Given the description of an element on the screen output the (x, y) to click on. 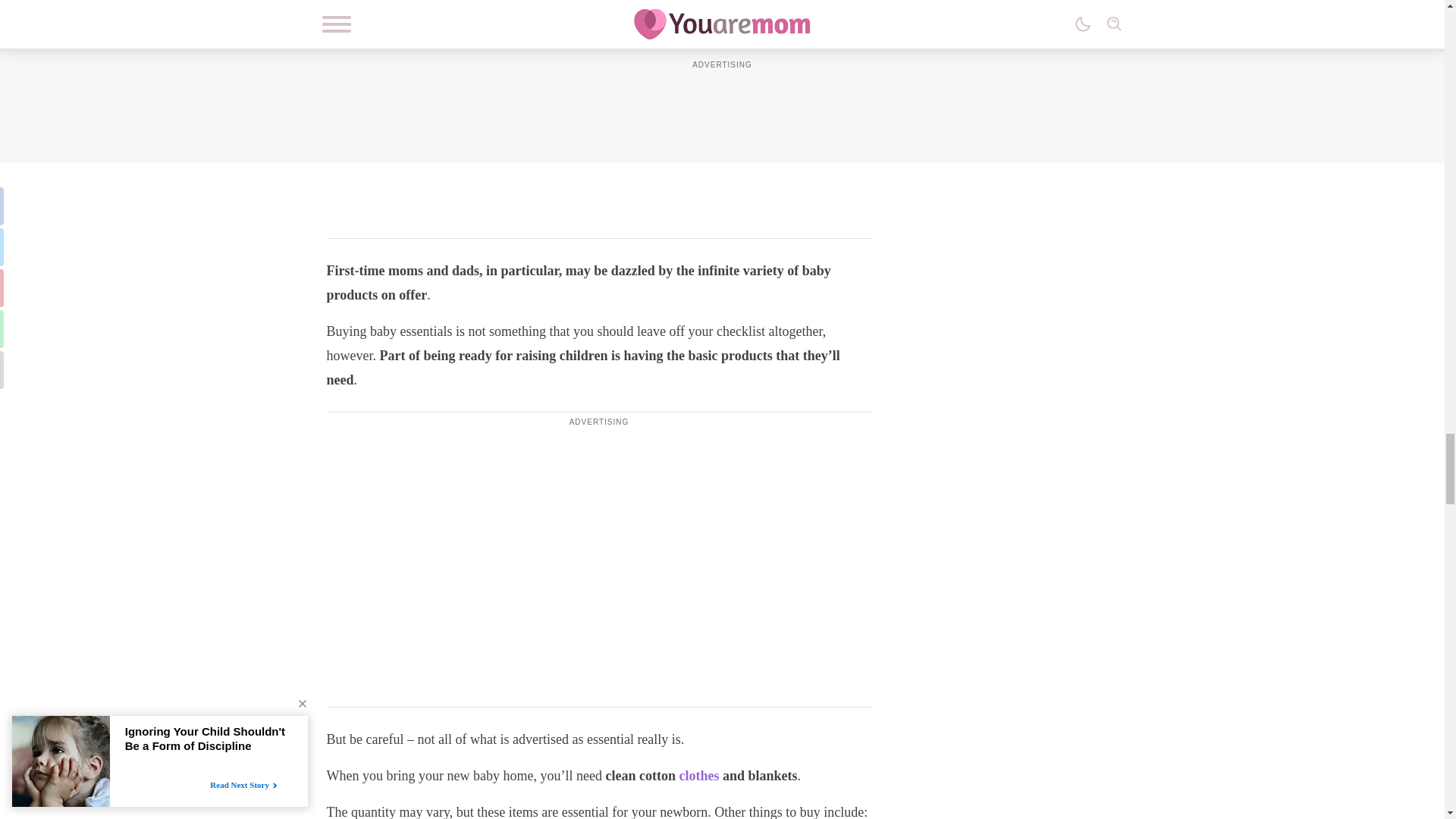
clothes (698, 775)
